Given the description of an element on the screen output the (x, y) to click on. 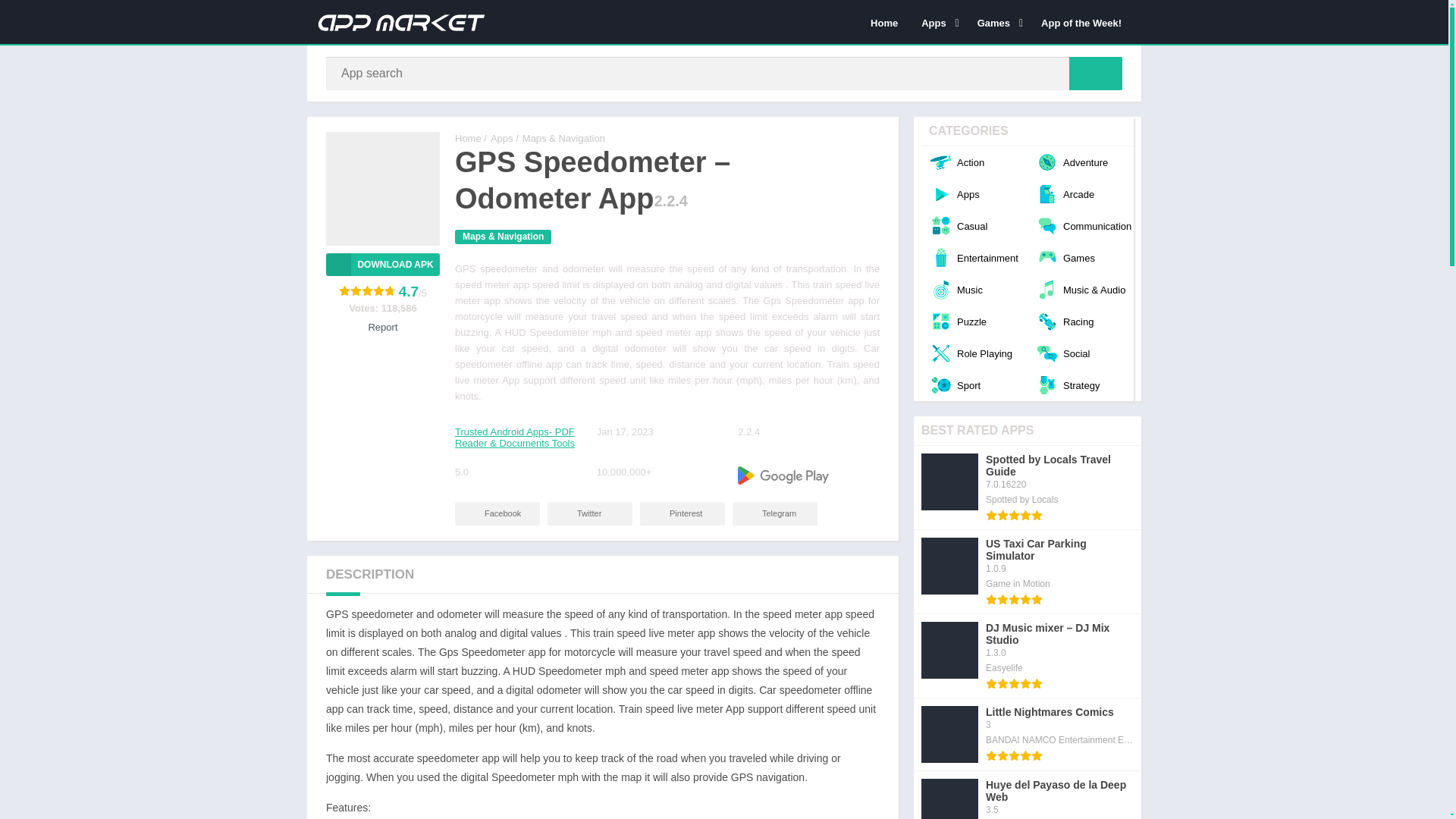
App search (1095, 73)
Mobile Apps Market (467, 138)
Download APK (382, 264)
